Given the description of an element on the screen output the (x, y) to click on. 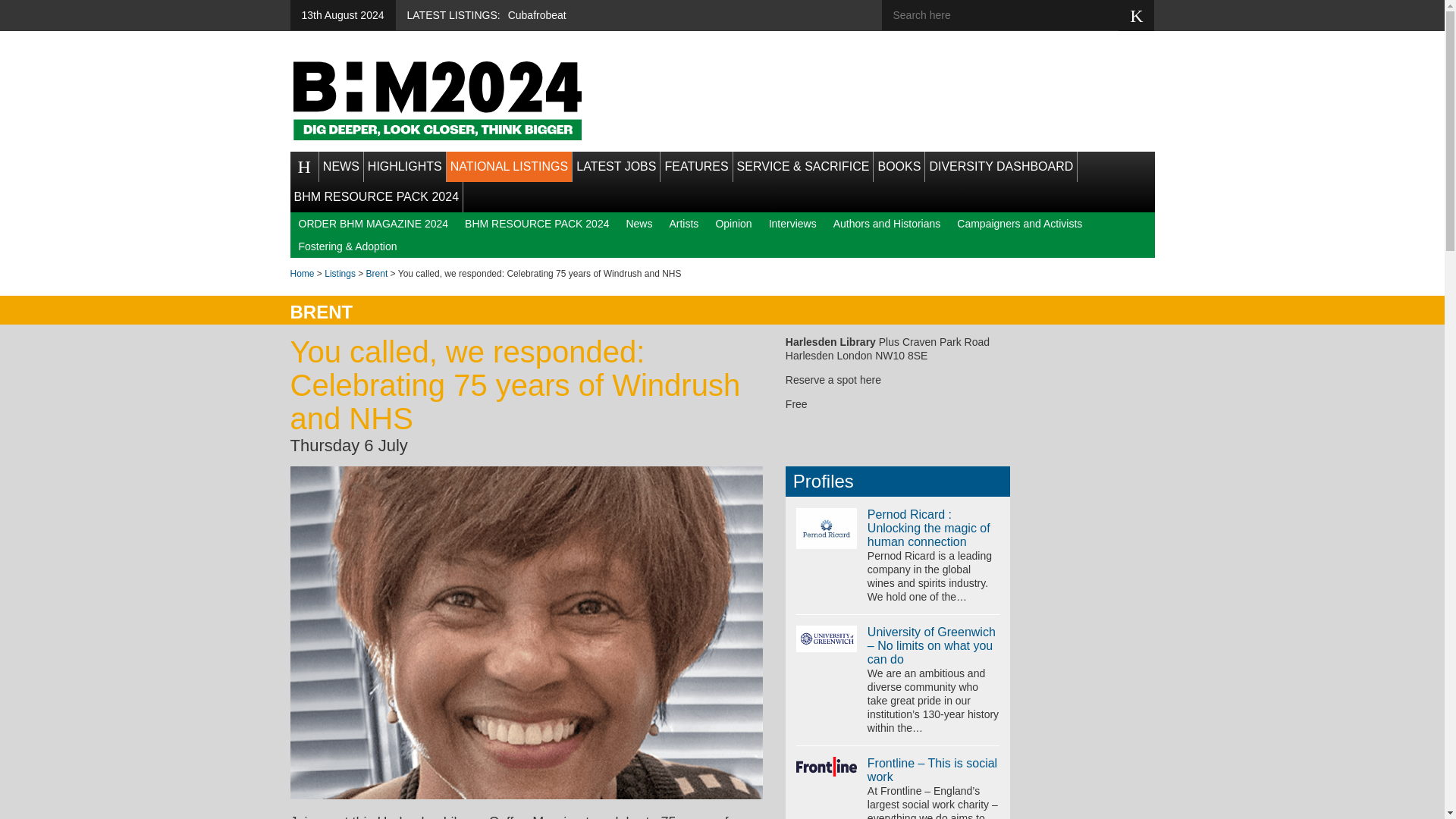
Black History Month 2024: Black History Month 2024 (437, 100)
Pernod Ricard : Unlocking the magic of human connection (826, 527)
Cubafrobeat (537, 15)
Search here (1010, 15)
Pernod Ricard : Unlocking the magic of human connection (928, 527)
